Given the description of an element on the screen output the (x, y) to click on. 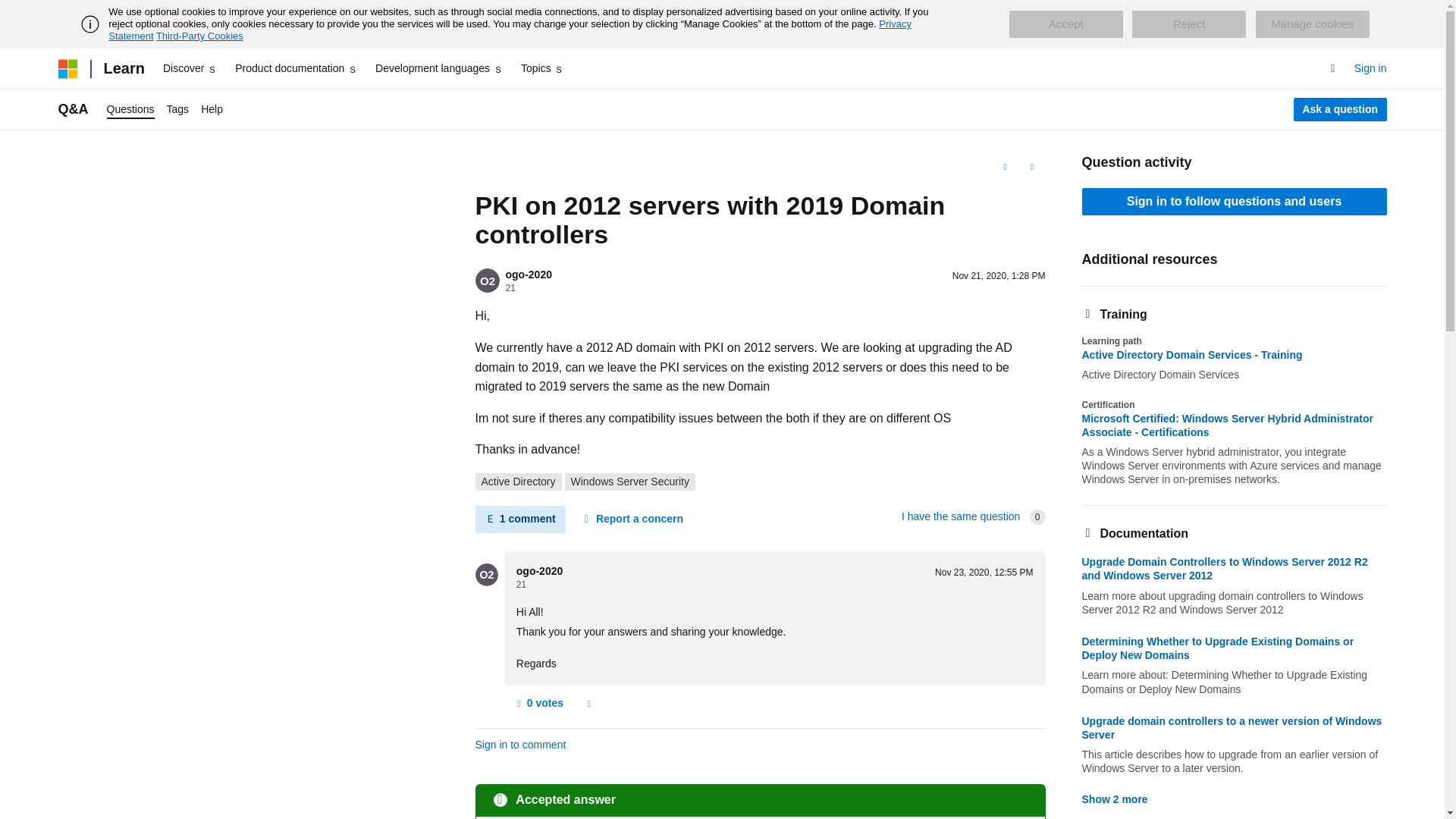
Report a concern (632, 519)
Topics (542, 68)
ogo-2020 (528, 274)
Product documentation (295, 68)
Sign in (1370, 68)
Questions (130, 109)
Skip to main content (11, 11)
Reputation points (510, 287)
Manage cookies (1312, 23)
Privacy Statement (509, 29)
Learn (123, 68)
This comment is helpful (538, 703)
Report a concern (588, 703)
Reputation points (520, 584)
Hide comments for this question (519, 519)
